Given the description of an element on the screen output the (x, y) to click on. 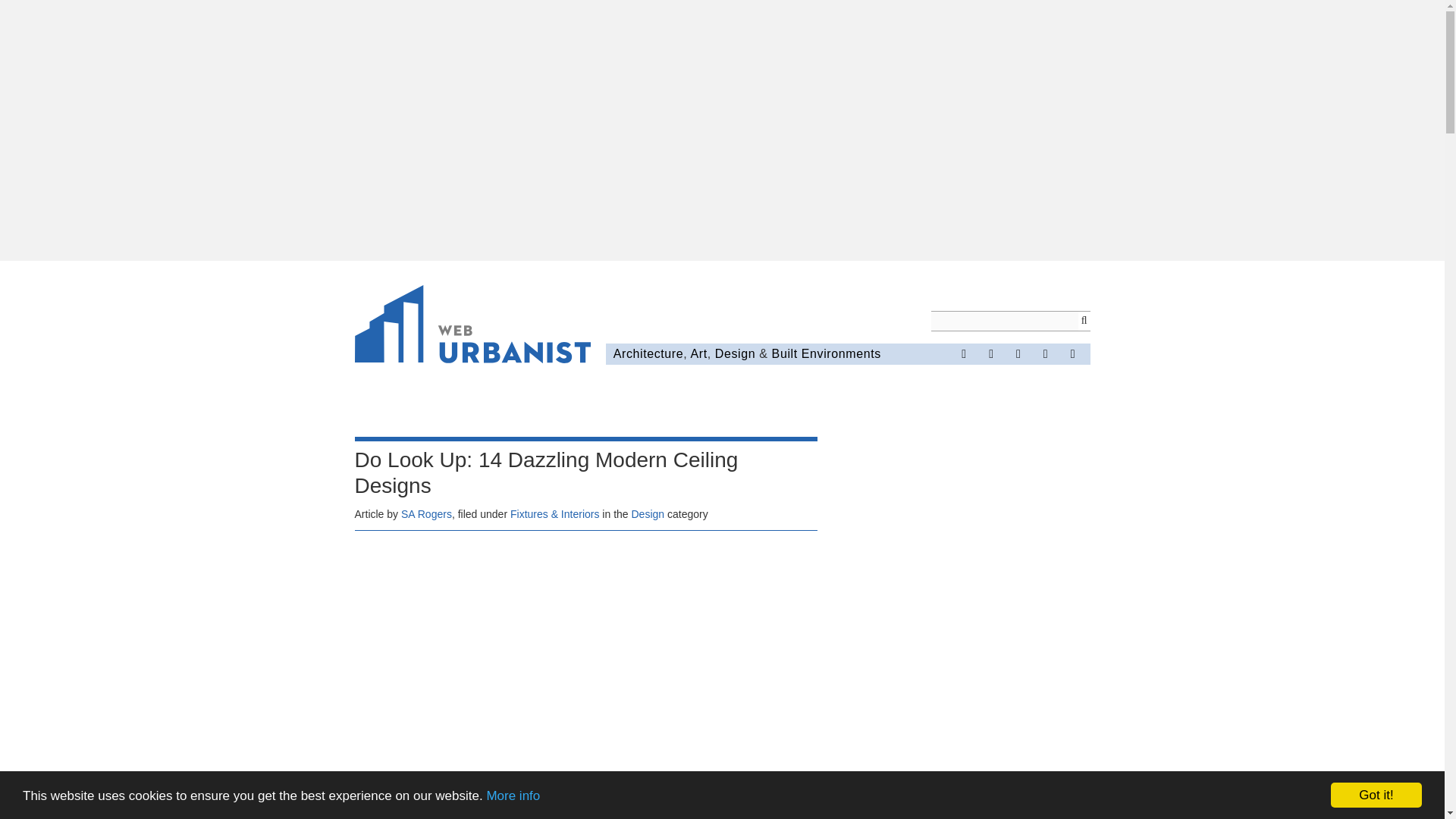
Follow Us on Twitter! (990, 353)
Design (646, 513)
Advertisement (585, 653)
Check Out Posts on Pinterest! (1018, 353)
Art (698, 353)
Subscribe to the RSS Feed! (1045, 353)
Advertisement (976, 627)
Design (734, 353)
Become a Fan on Facebook! (963, 353)
Environments (841, 353)
Built (784, 353)
Architecture (648, 353)
SA Rogers (426, 513)
WebUrbanist (473, 326)
